Given the description of an element on the screen output the (x, y) to click on. 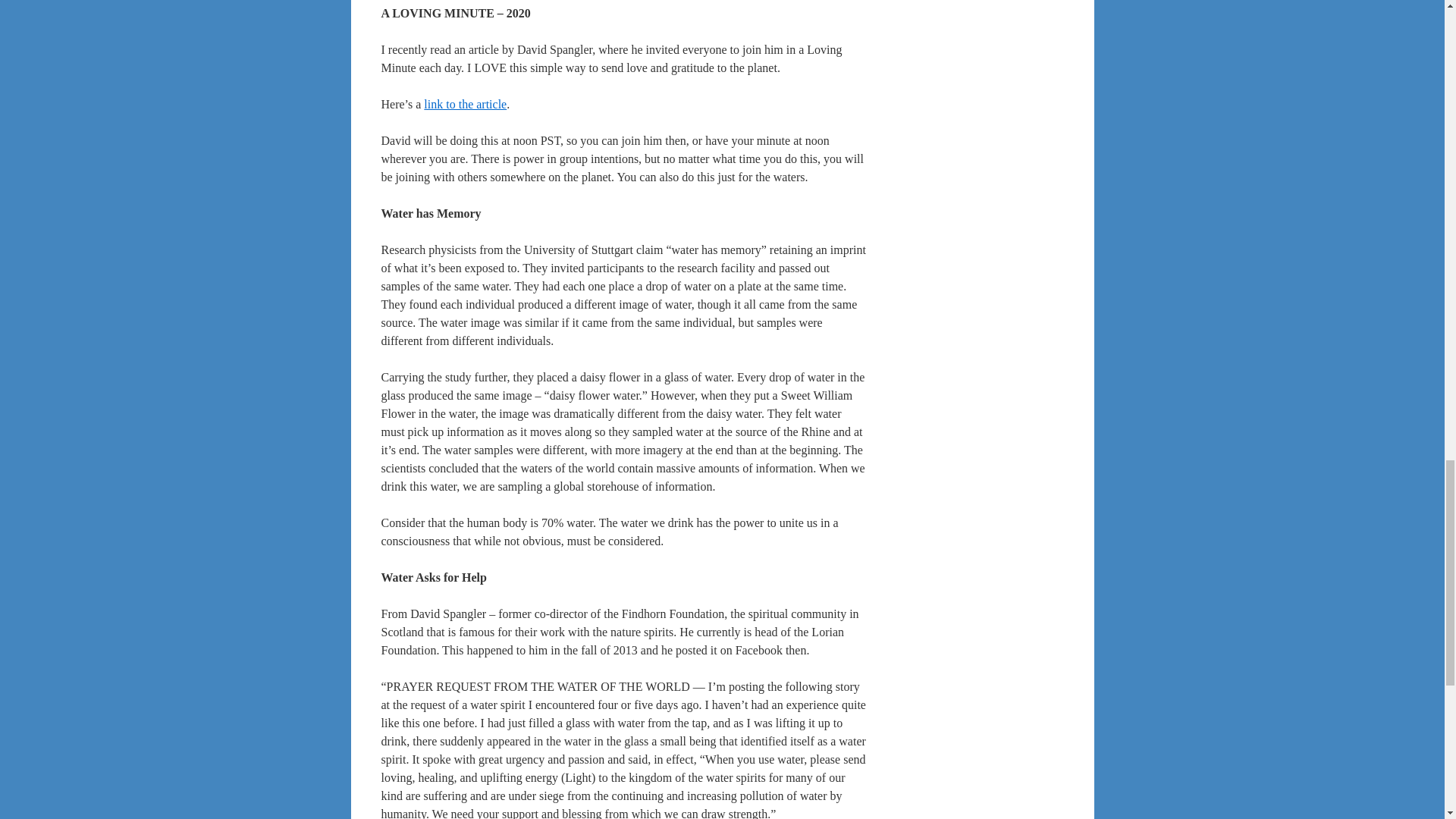
link to the article (464, 103)
